Given the description of an element on the screen output the (x, y) to click on. 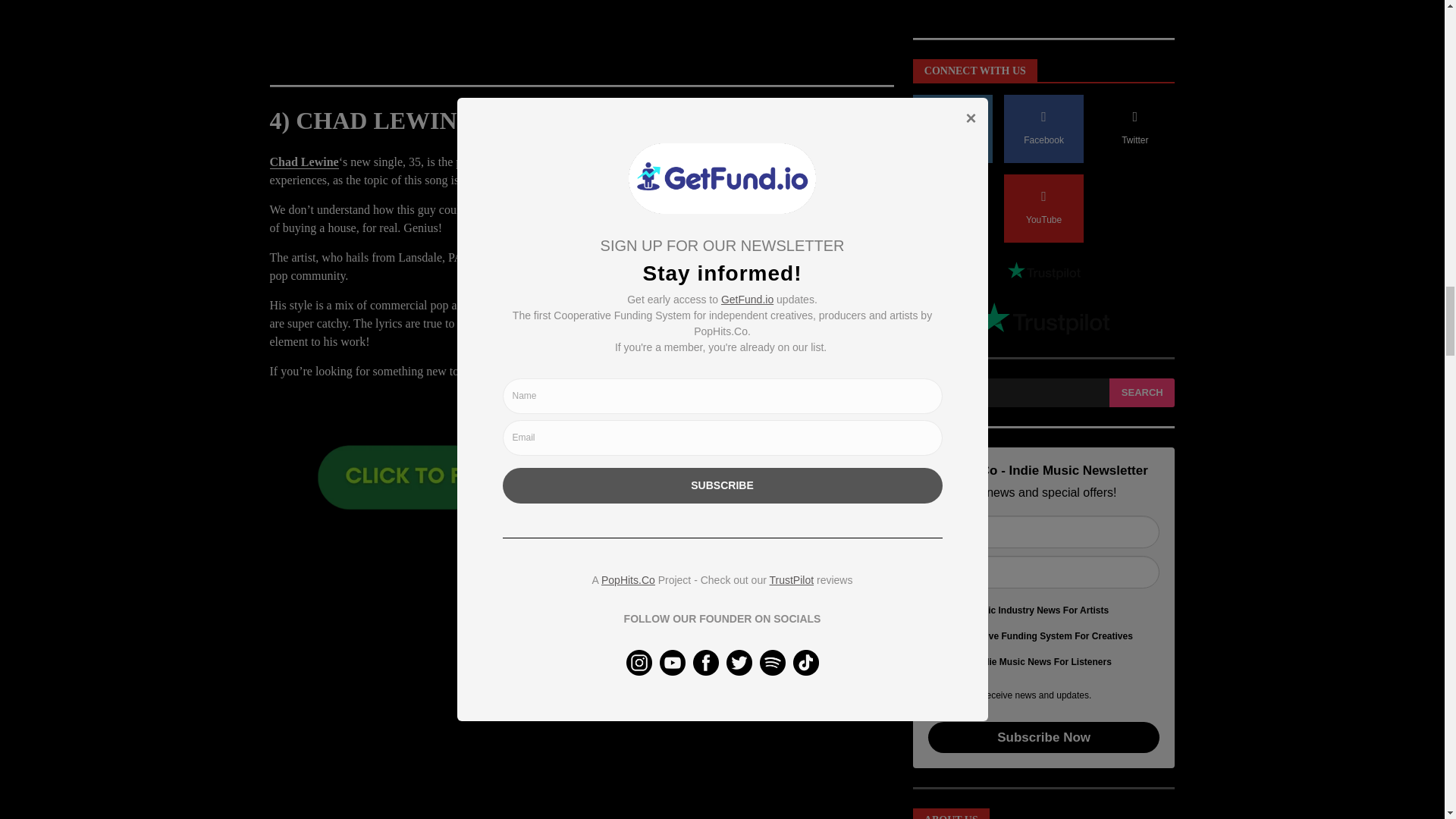
Spotify Embed: All You Gotta Know (581, 34)
